Given the description of an element on the screen output the (x, y) to click on. 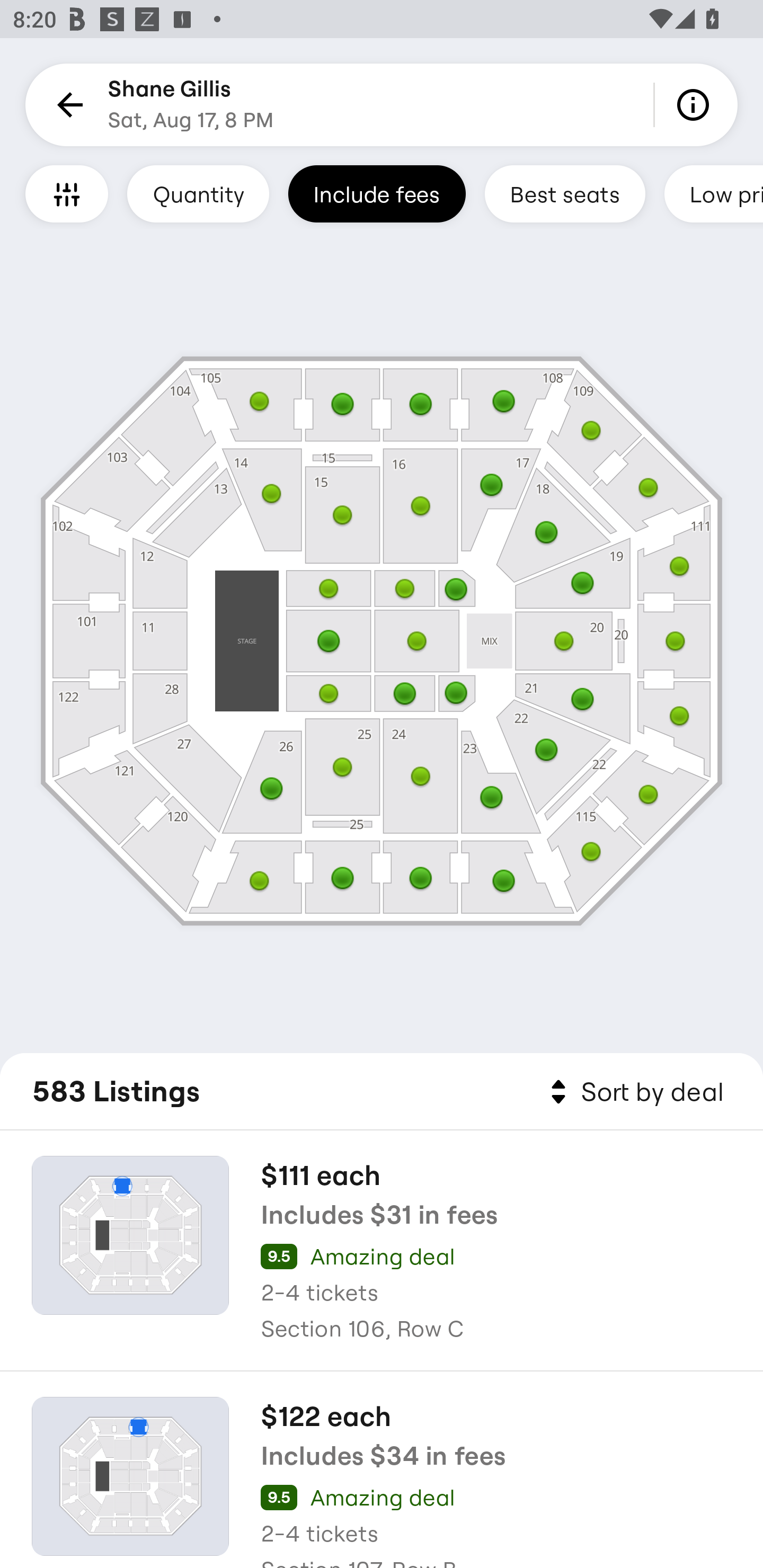
Back (66, 104)
Shane Gillis Sat, Aug 17, 8 PM (190, 104)
Info (695, 104)
Filters and Accessible Seating (66, 193)
Quantity (198, 193)
Include fees (376, 193)
Best seats (564, 193)
Sort by deal (633, 1091)
